Given the description of an element on the screen output the (x, y) to click on. 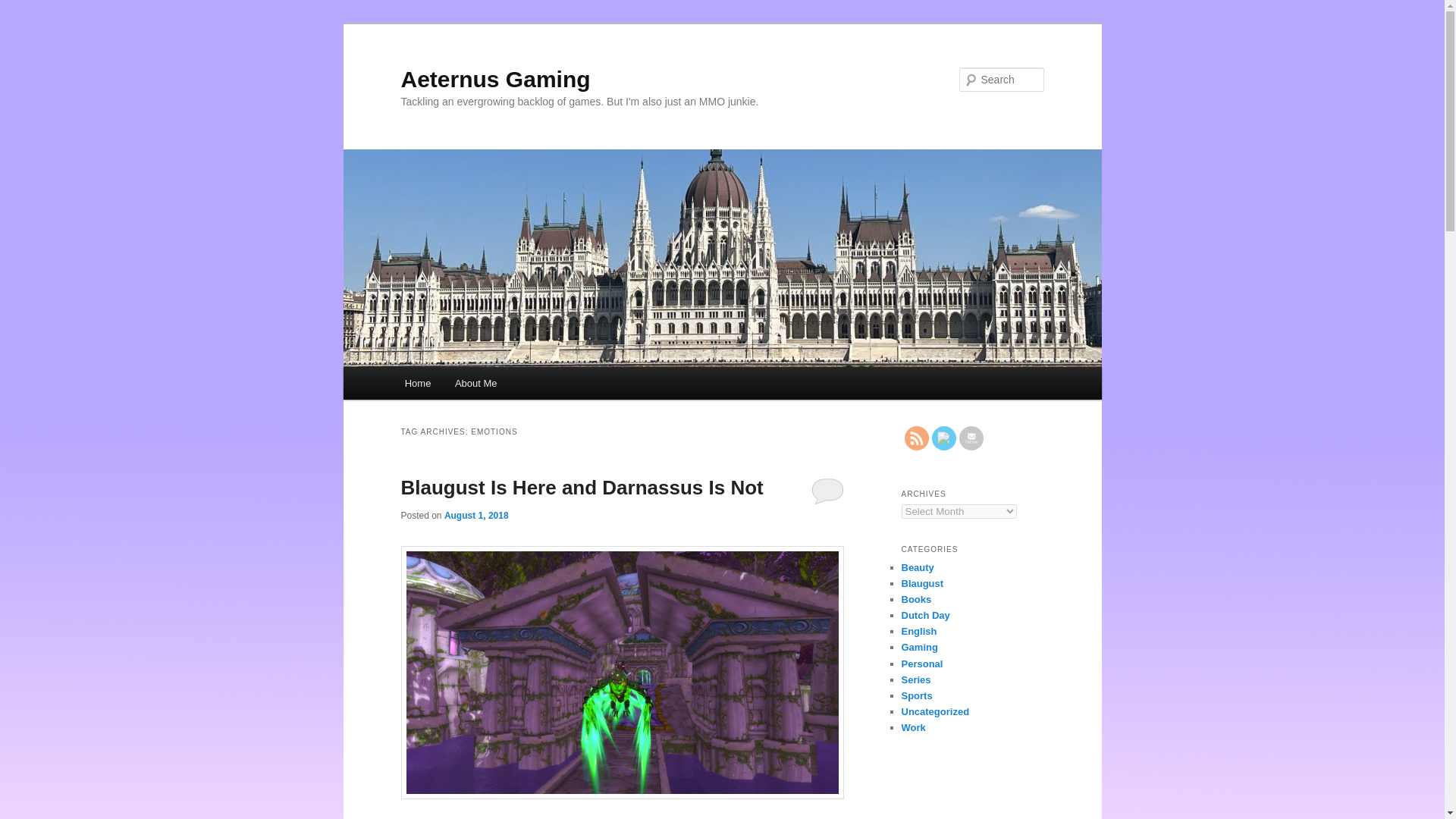
About Me (475, 382)
7:08 pm (476, 515)
Blaugust (922, 583)
Follow by Email (970, 438)
Home (417, 382)
Blaugust Is Here and Darnassus Is Not (581, 486)
Twitter (943, 438)
Beauty (917, 567)
Aeternus Gaming (494, 78)
